Given the description of an element on the screen output the (x, y) to click on. 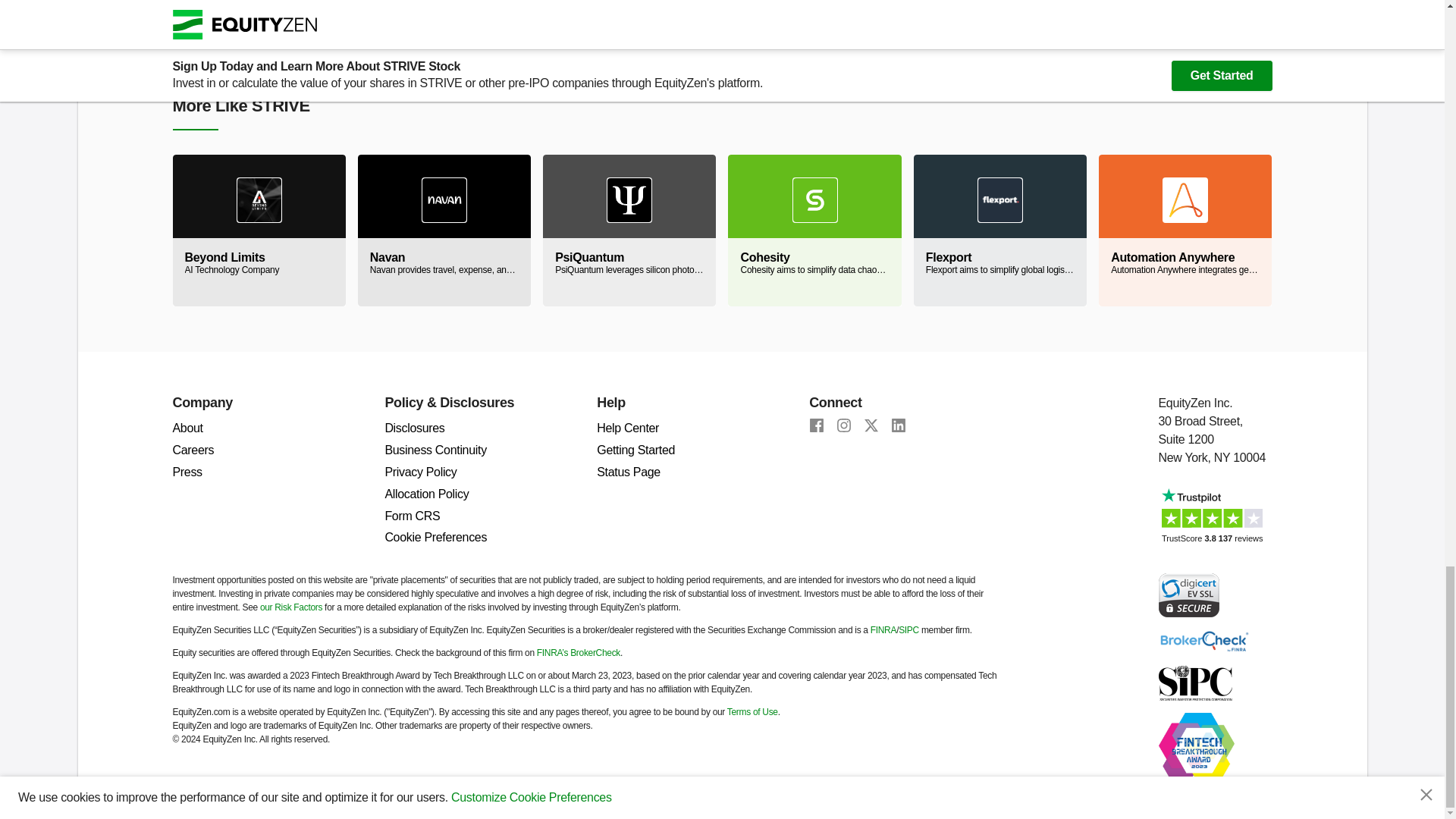
SIPC (1194, 681)
Status Page (628, 472)
Status Page (628, 472)
Terms of Use (751, 711)
Cookie Preferences (435, 536)
Privacy Policy (420, 472)
Business Continuity (435, 449)
FINRA (883, 629)
Getting Started (635, 449)
